Given the description of an element on the screen output the (x, y) to click on. 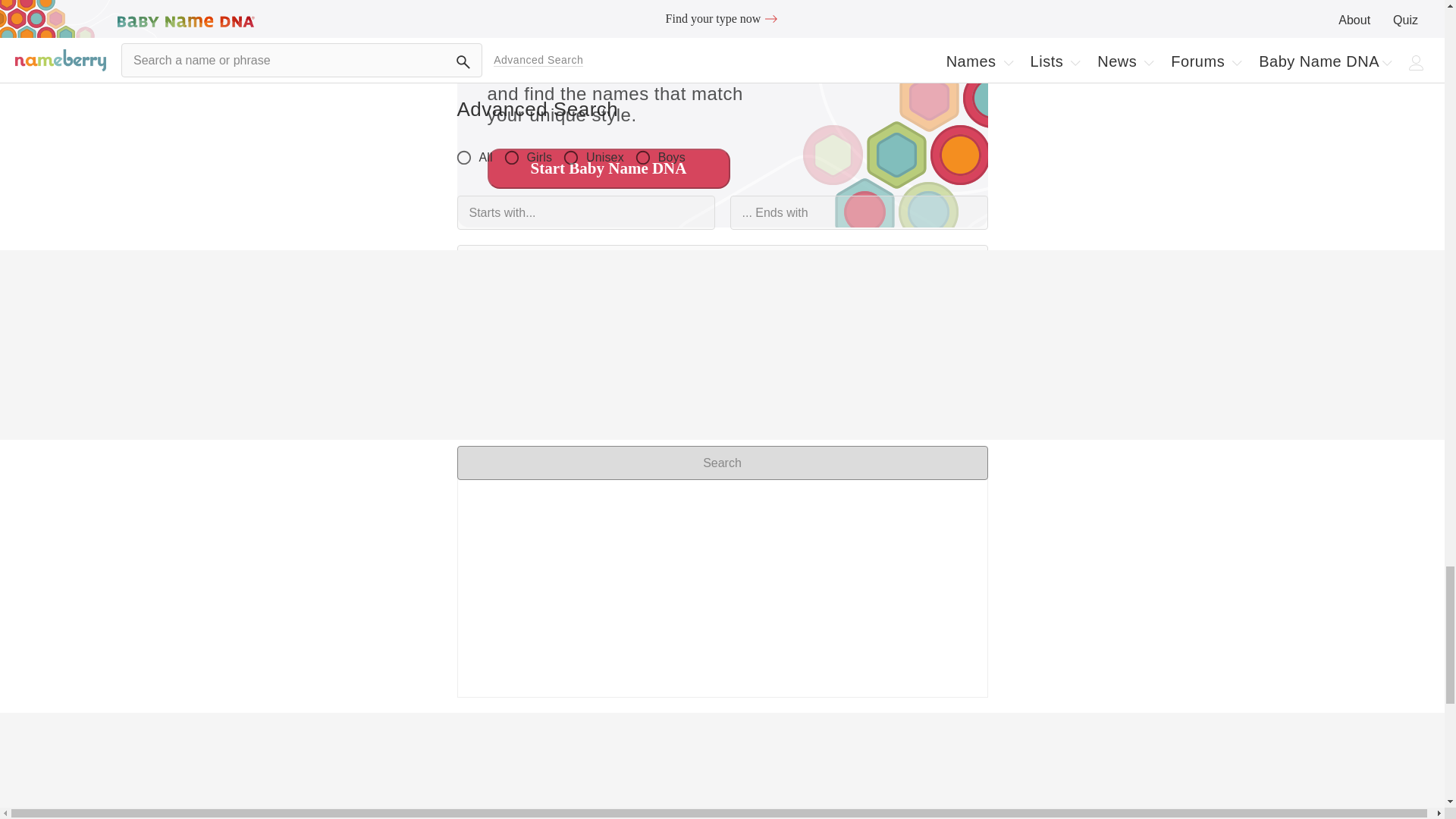
Sign up for the Nameberry Newsletter (722, 576)
